Given the description of an element on the screen output the (x, y) to click on. 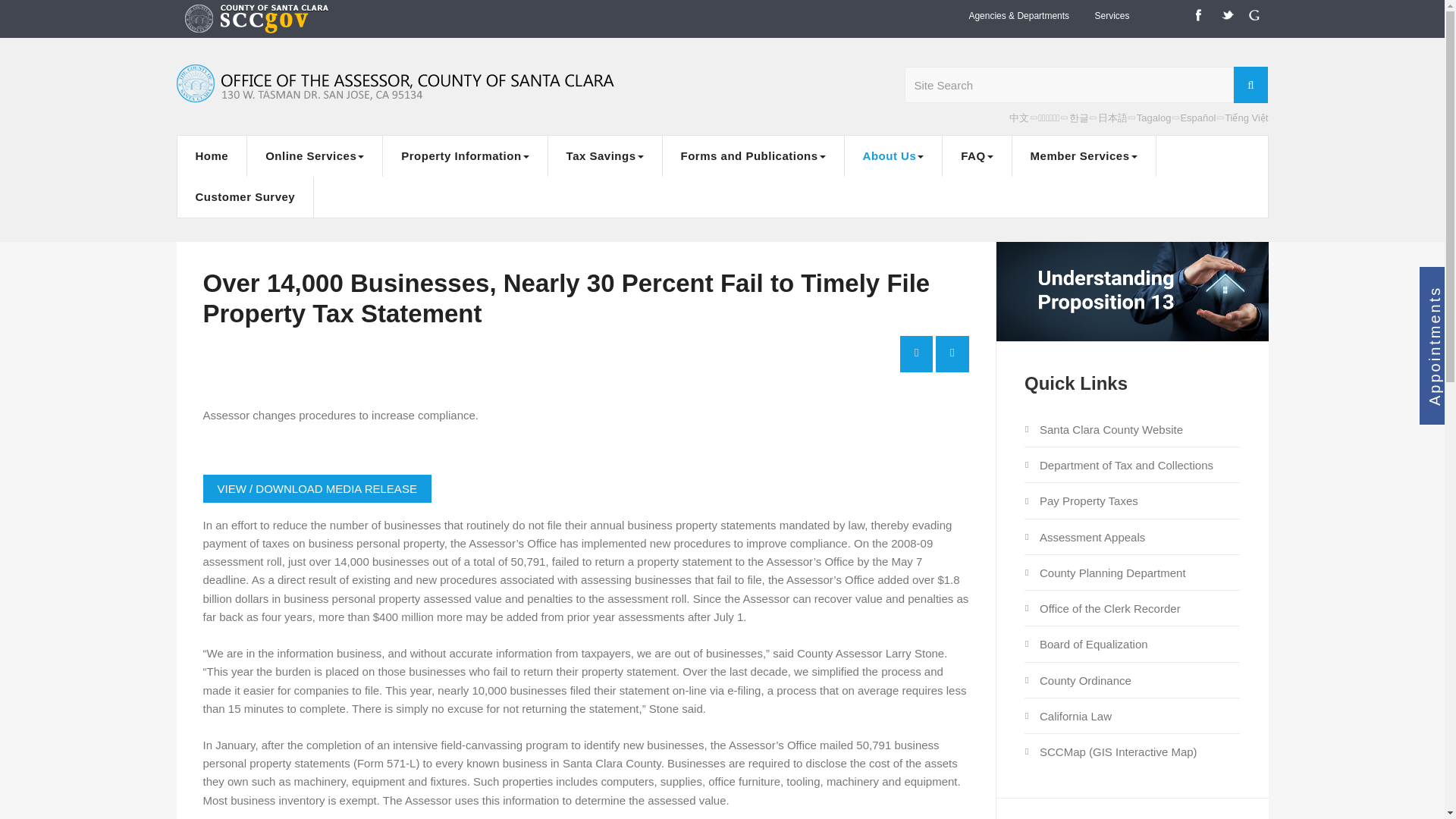
Search (1250, 84)
Tagalog (1154, 117)
Services (1111, 15)
Tagalog (1154, 117)
Email (952, 353)
Print (916, 353)
